Given the description of an element on the screen output the (x, y) to click on. 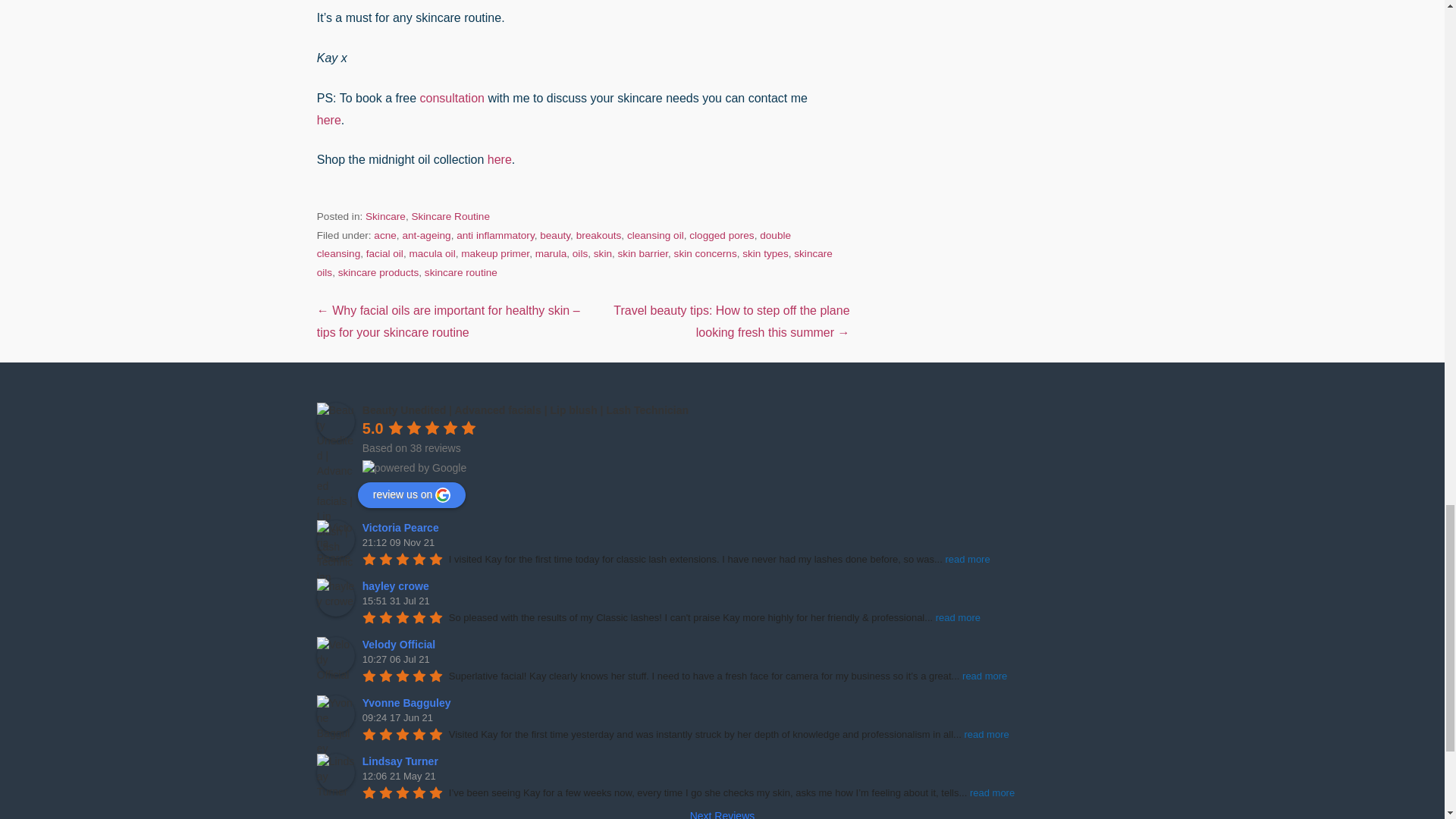
hayley crowe (336, 597)
marula (551, 253)
Victoria Pearce (336, 538)
Skincare Routine (449, 215)
Velody Official (336, 655)
Lindsay Turner (336, 772)
macula oil (431, 253)
oils (580, 253)
beauty (555, 235)
breakouts (598, 235)
